Given the description of an element on the screen output the (x, y) to click on. 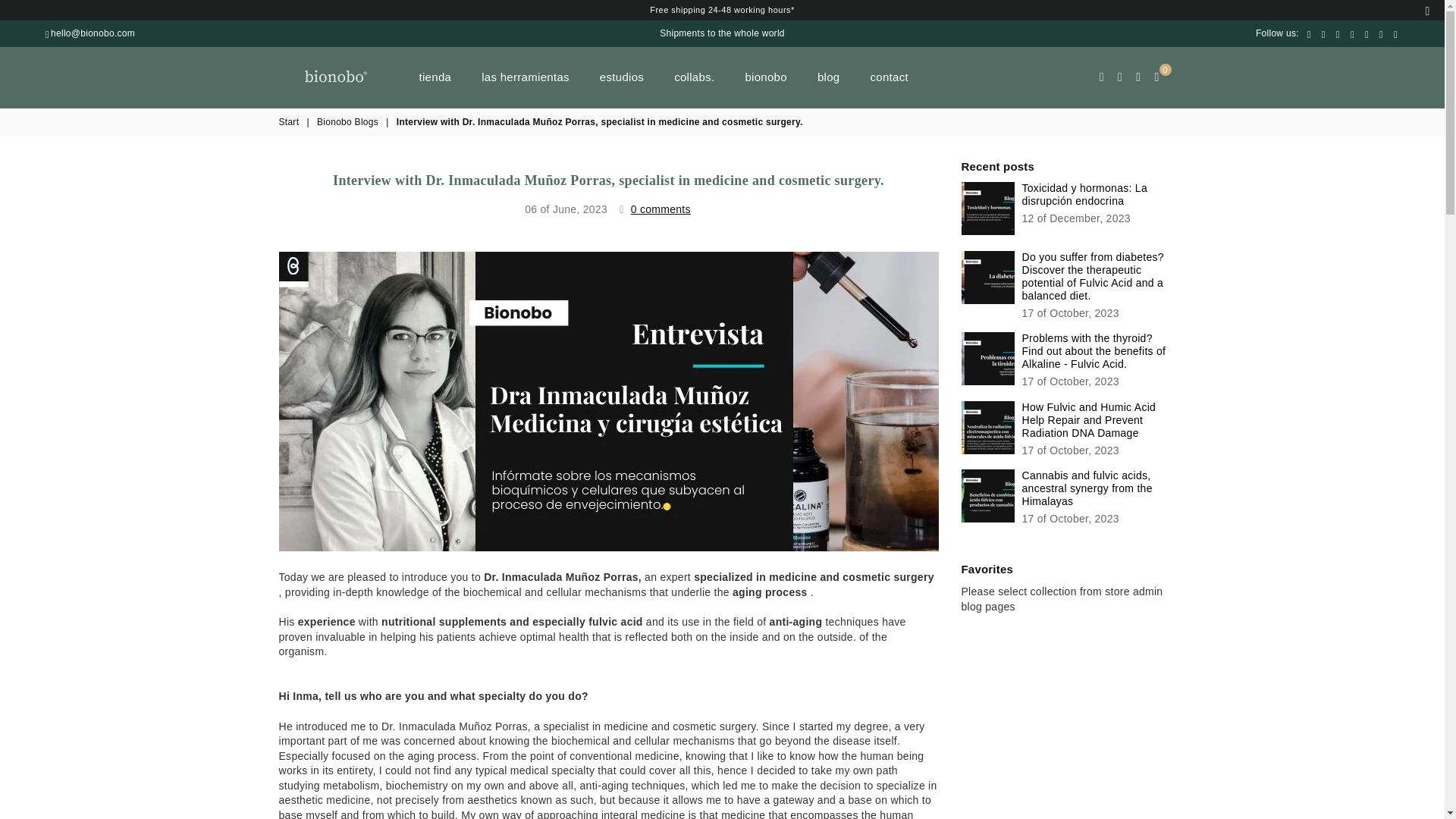
Bionobo in Vimeo (1381, 34)
Facebook (1308, 34)
Bionobo in Twitter (1323, 34)
Linkedin (1352, 34)
tienda (435, 77)
Go back to start (290, 122)
RSS (1396, 34)
Bionobo in Instagram (1337, 34)
Bionobo in Facebook (1308, 34)
las herramientas (525, 77)
